Given the description of an element on the screen output the (x, y) to click on. 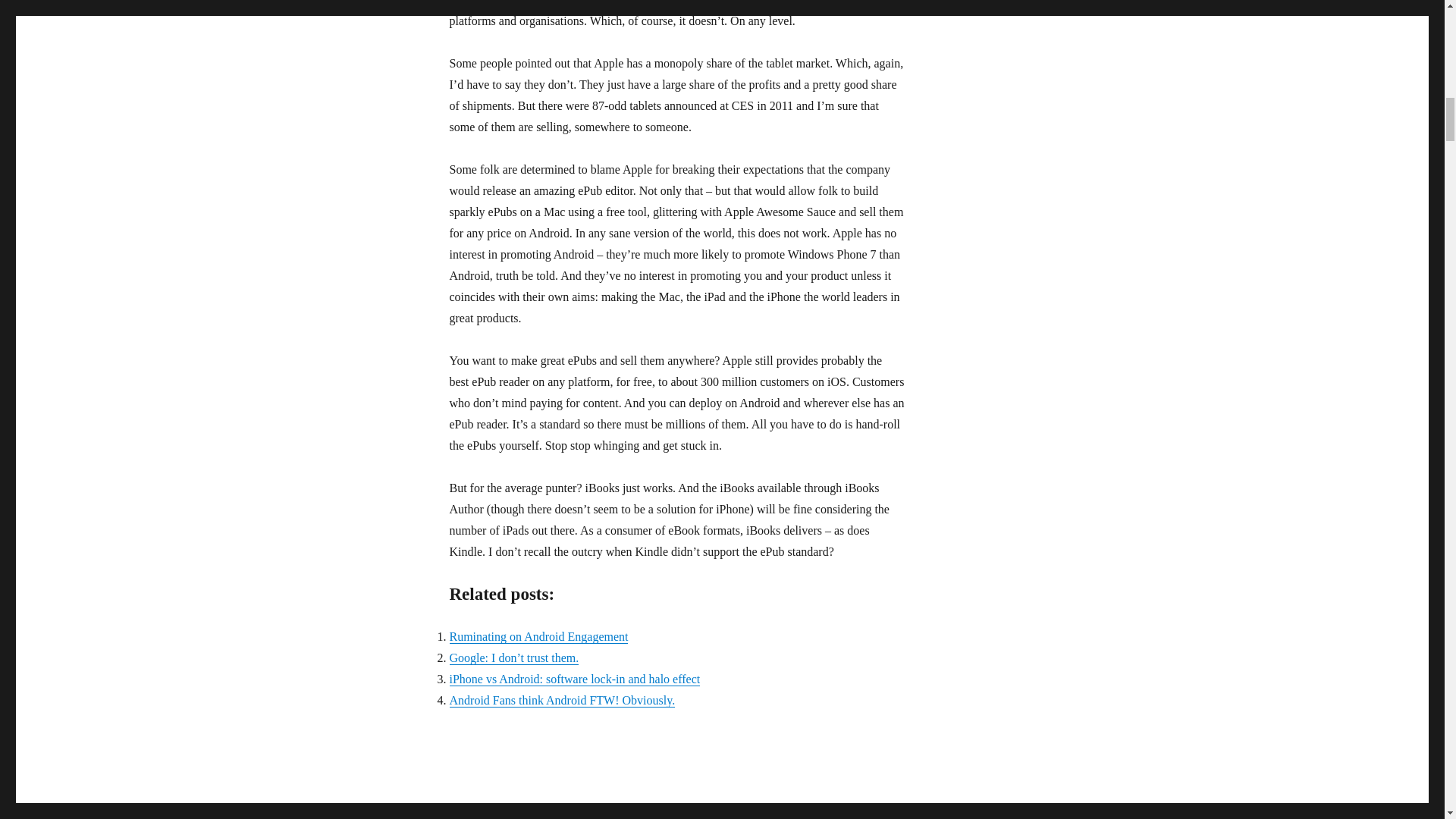
Ruminating on Android Engagement (537, 635)
Ruminating on Android Engagement (537, 635)
Android Fans think Android FTW! Obviously. (561, 699)
Android Fans think Android FTW! Obviously. (561, 699)
iPhone vs Android: software lock-in and halo effect (574, 678)
iPhone vs Android: software lock-in and halo effect (574, 678)
